Given the description of an element on the screen output the (x, y) to click on. 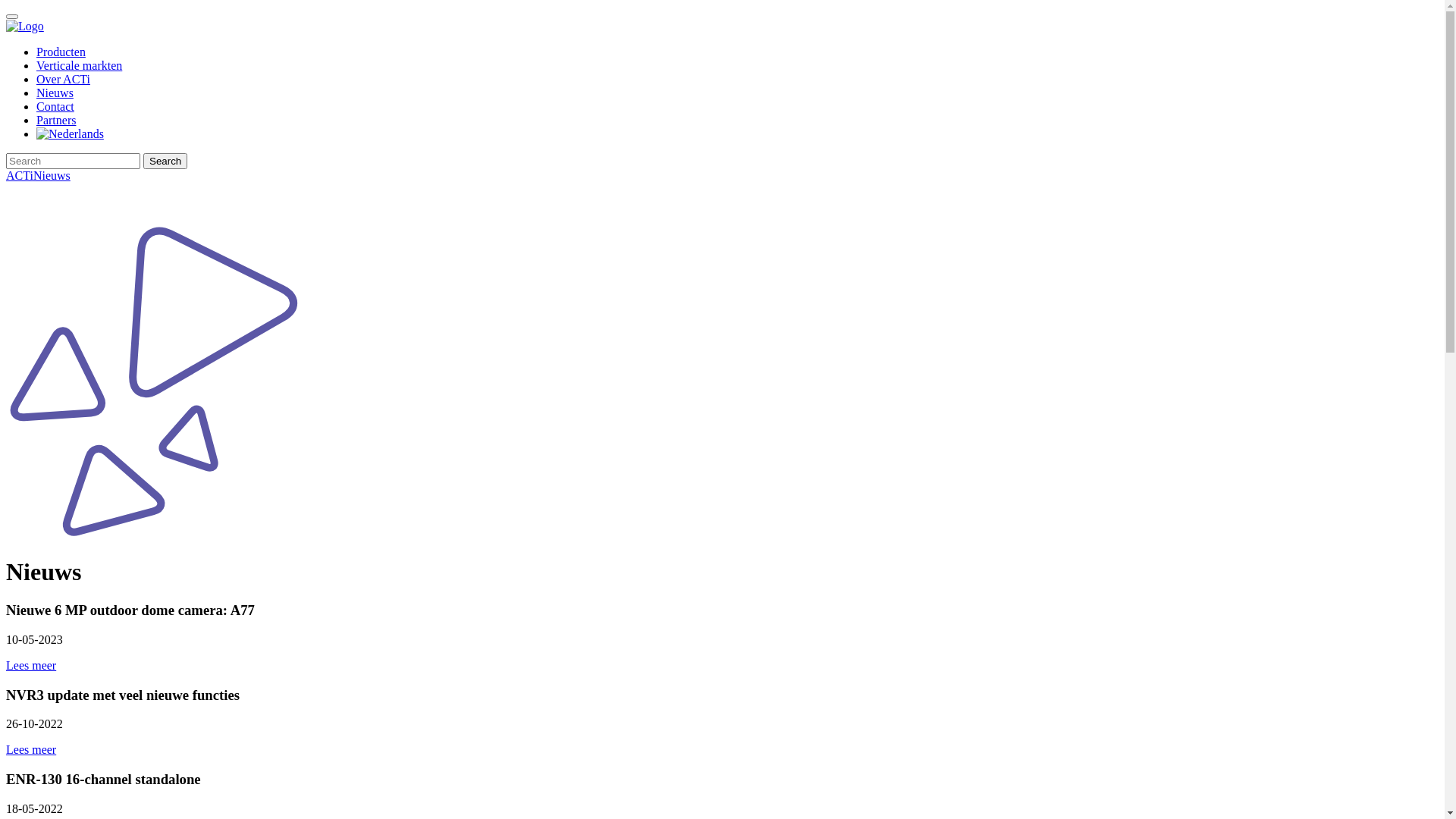
Nieuws Element type: text (54, 92)
ACTi Element type: text (19, 175)
Contact Element type: text (55, 106)
Producten Element type: text (60, 51)
Lees meer Element type: text (31, 664)
Over ACTi Element type: text (63, 78)
Search Element type: text (165, 161)
Nieuws Element type: text (51, 175)
Lees meer Element type: text (31, 749)
Verticale markten Element type: text (79, 65)
Partners Element type: text (55, 119)
